Given the description of an element on the screen output the (x, y) to click on. 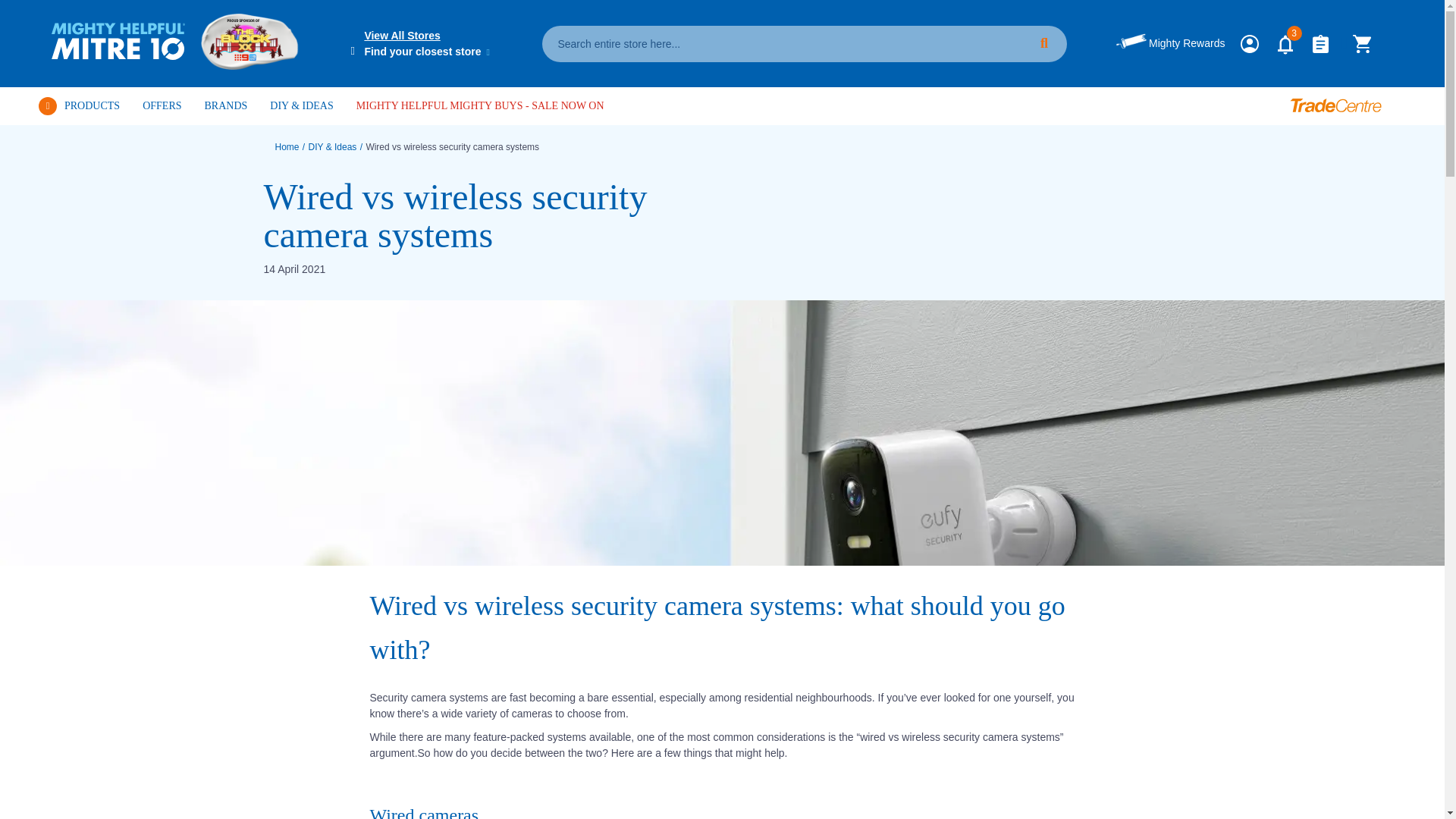
View All Stores (417, 35)
PRODUCTS (78, 105)
SEARCH (1046, 43)
Search (1046, 43)
Mighty Helpful, Mitre 10 (122, 43)
Mighty Helpful, Mitre 10 (117, 41)
